Given the description of an element on the screen output the (x, y) to click on. 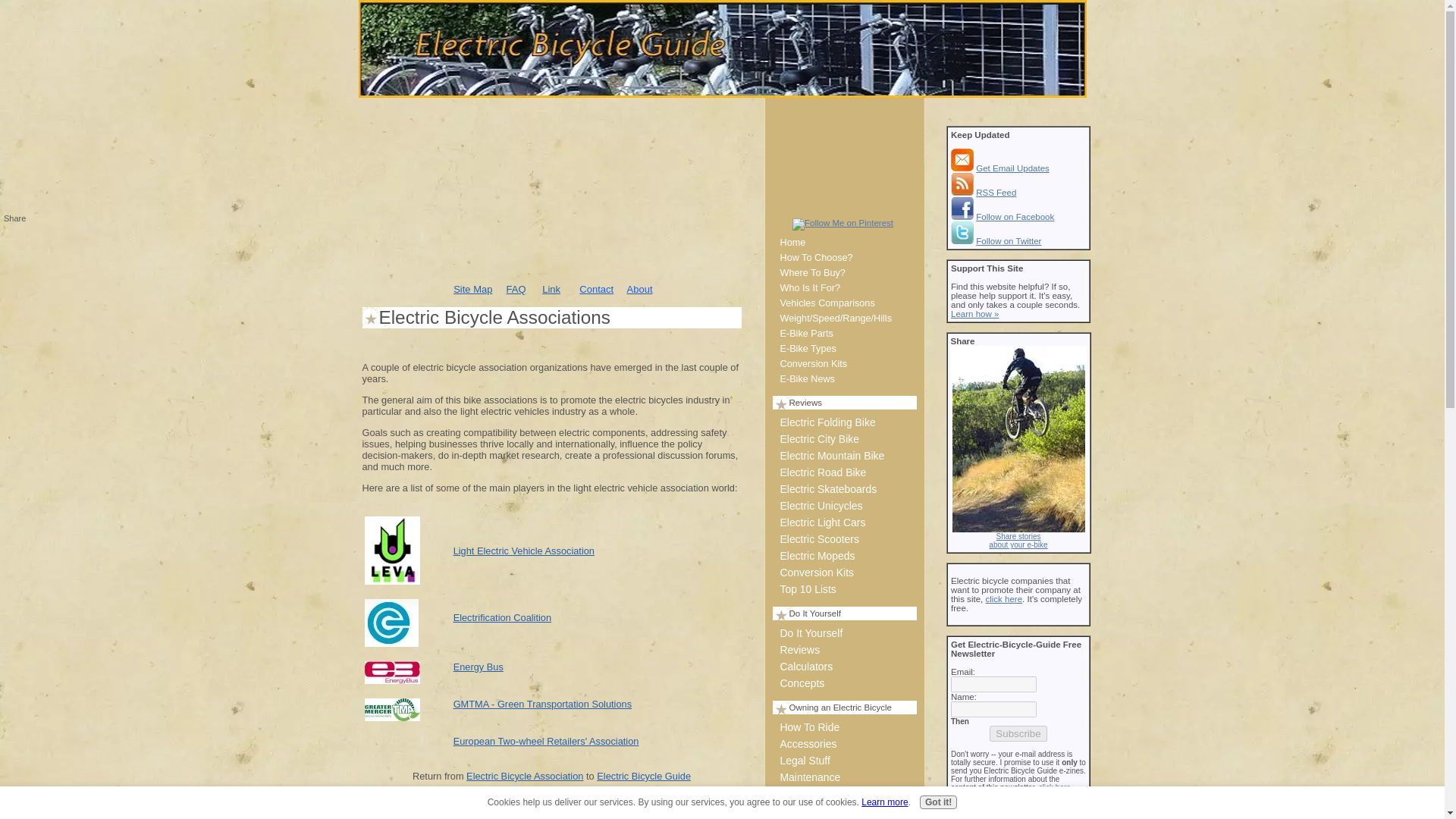
Home (843, 242)
Light Electric Vehicle Association (523, 550)
Energy Bus (477, 666)
Who Is It For? (843, 287)
Contact (595, 288)
Top 10 Lists (843, 588)
E-Bike Parts (843, 333)
Electric Light Cars (843, 522)
How To Choose? (843, 257)
Concepts (843, 682)
Reviews (843, 649)
Electric Bicycle Association (524, 776)
Electric Unicycles (843, 505)
Electric Scooters (843, 538)
Electric Mountain Bike (843, 455)
